Given the description of an element on the screen output the (x, y) to click on. 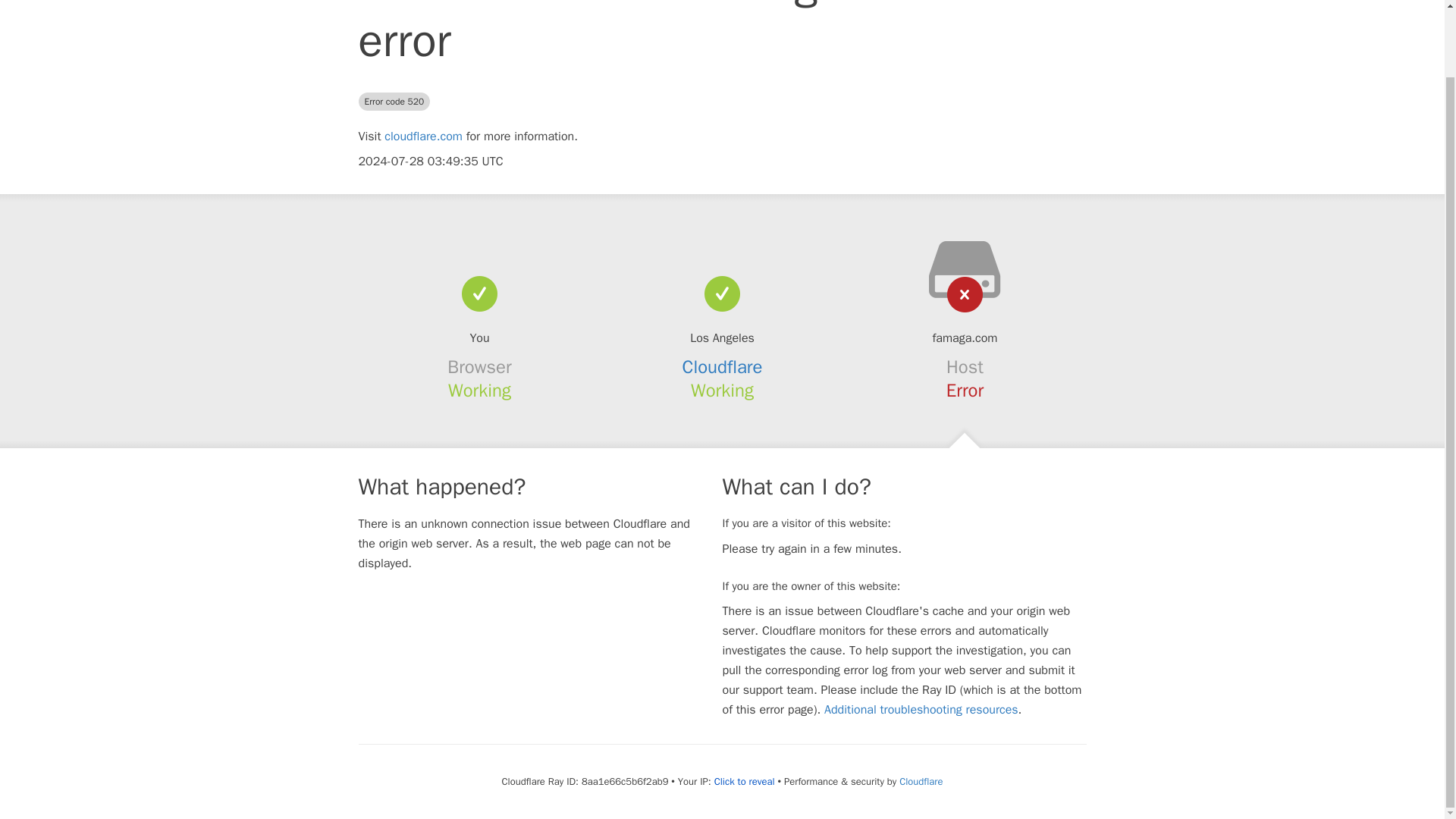
cloudflare.com (423, 136)
Cloudflare (722, 366)
Cloudflare (920, 780)
Additional troubleshooting resources (920, 709)
Click to reveal (744, 781)
